Given the description of an element on the screen output the (x, y) to click on. 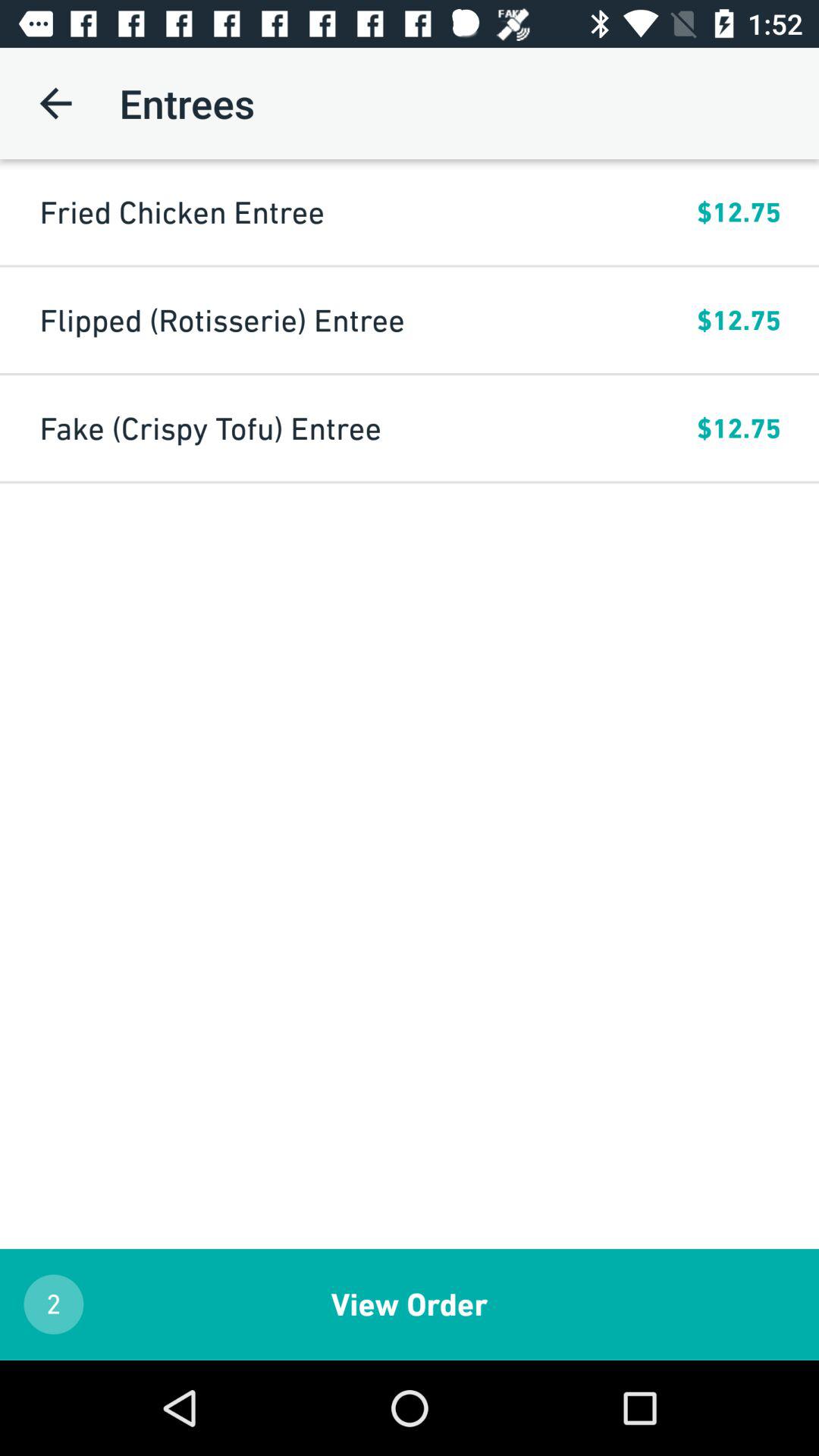
click icon above the fried chicken entree icon (55, 103)
